Given the description of an element on the screen output the (x, y) to click on. 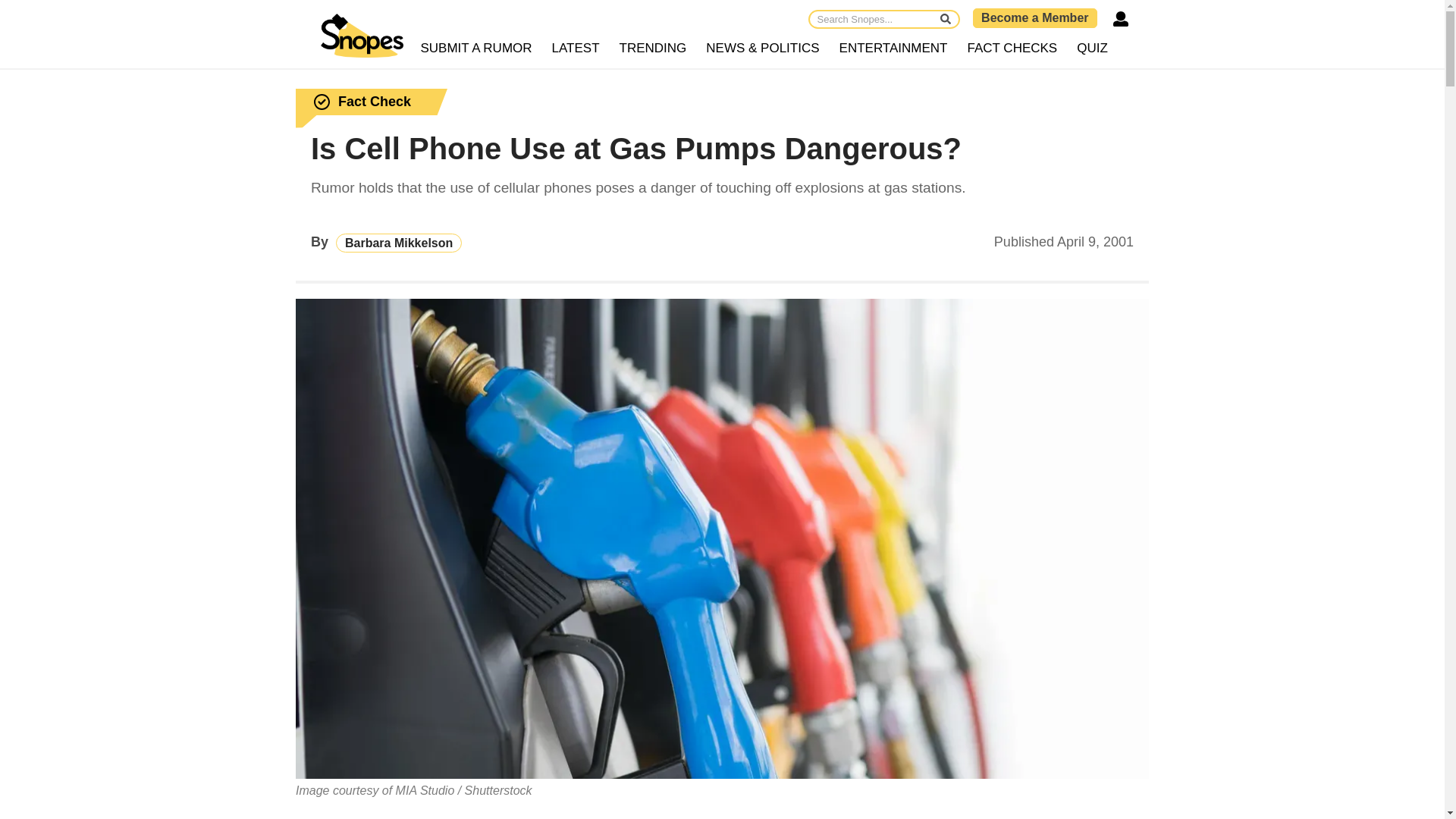
ENTERTAINMENT (893, 47)
SUBMIT A RUMOR (475, 47)
LATEST (576, 47)
Become a Member (1034, 17)
Barbara Mikkelson (398, 242)
TRENDING (653, 47)
QUIZ (1092, 47)
FACT CHECKS (1011, 47)
